Given the description of an element on the screen output the (x, y) to click on. 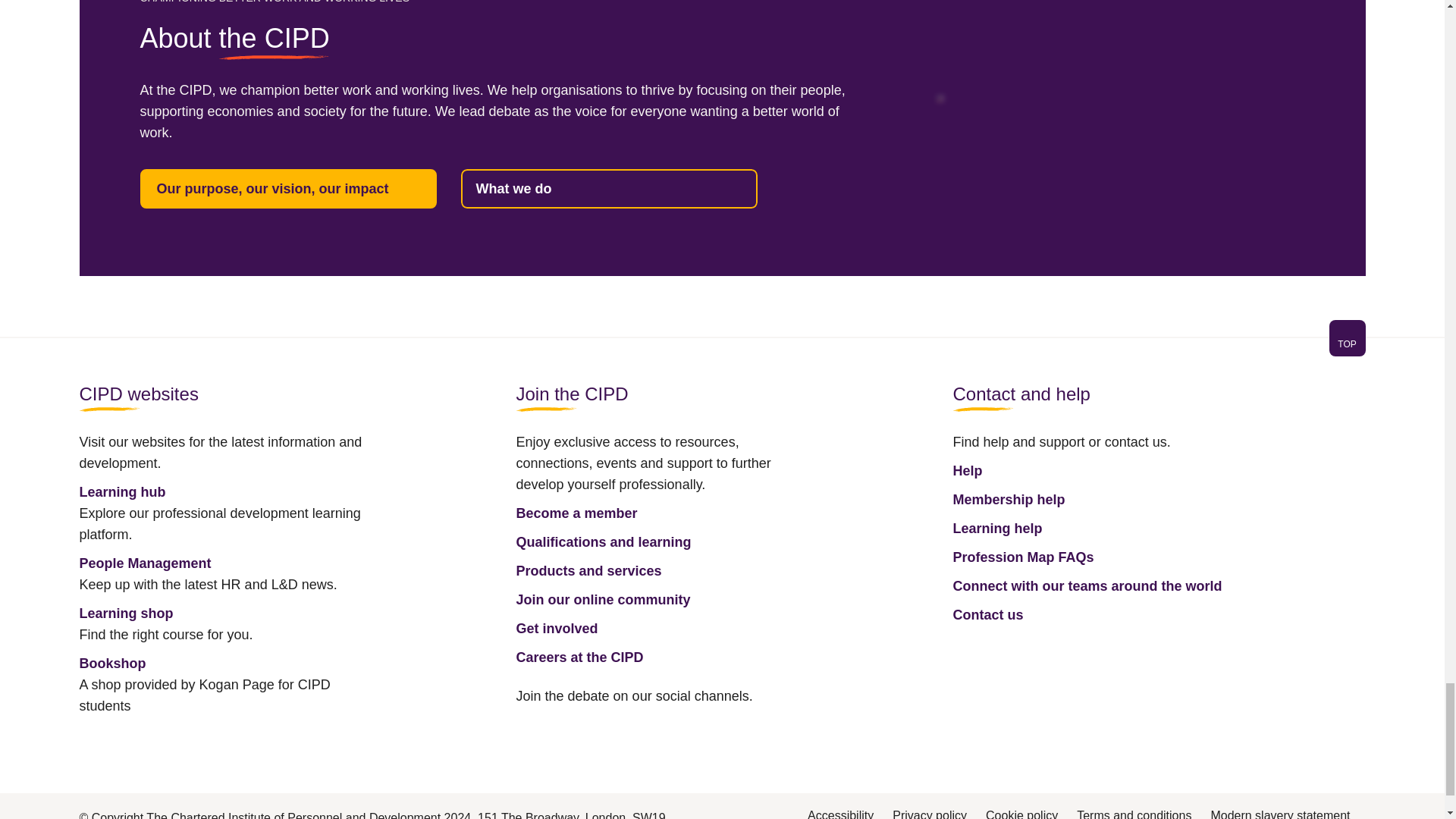
TOP (1346, 338)
TOP (1346, 344)
TOP (721, 347)
